Given the description of an element on the screen output the (x, y) to click on. 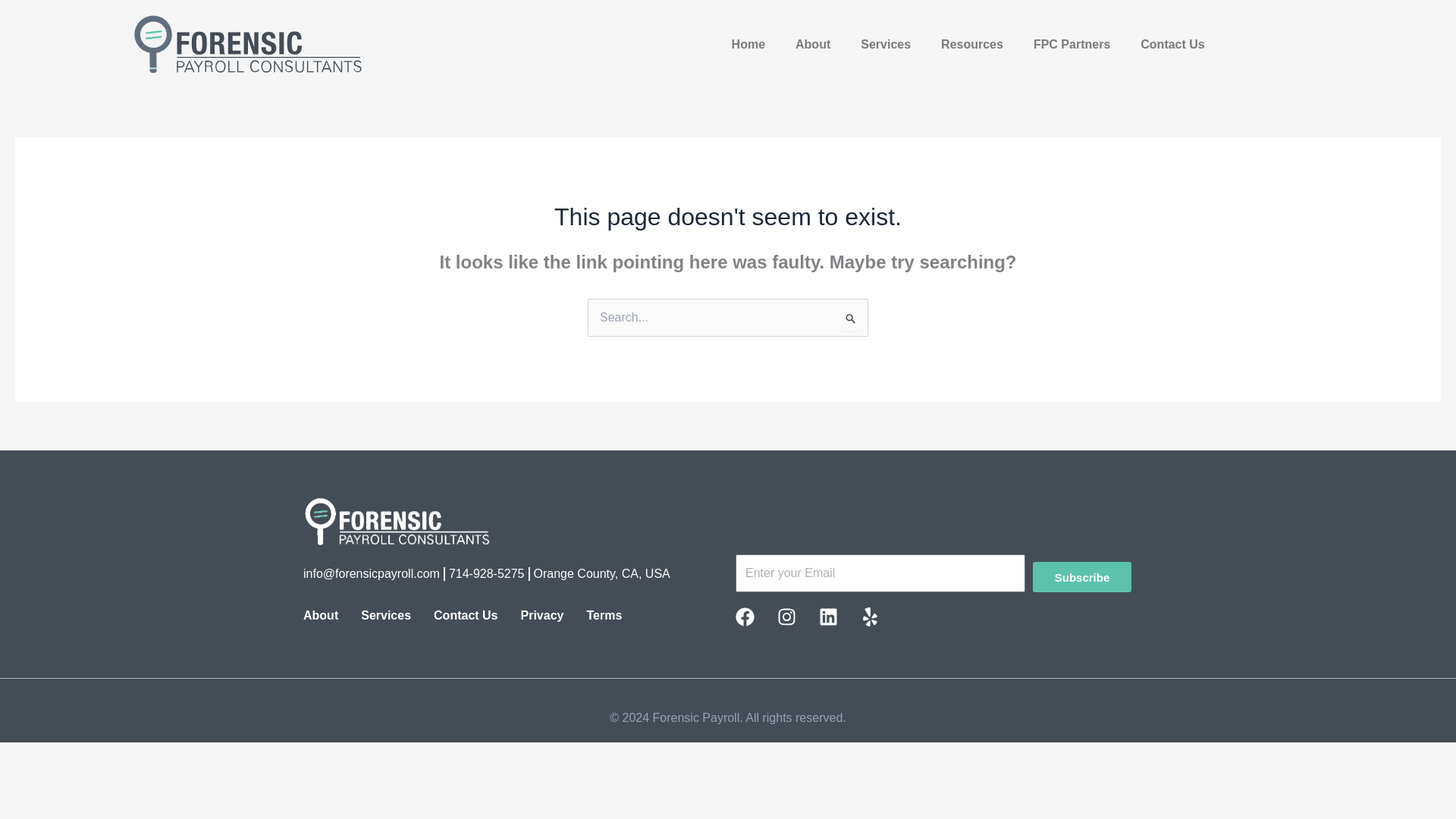
Services (885, 44)
Facebook (754, 626)
Contact Us (1172, 44)
Yelp (879, 626)
FPC Partners (1071, 44)
Terms (603, 615)
Linkedin (837, 626)
Contact Us (465, 615)
Services (385, 615)
Home (748, 44)
About (319, 615)
Instagram (796, 626)
Privacy (541, 615)
Subscribe (1081, 576)
About (812, 44)
